Given the description of an element on the screen output the (x, y) to click on. 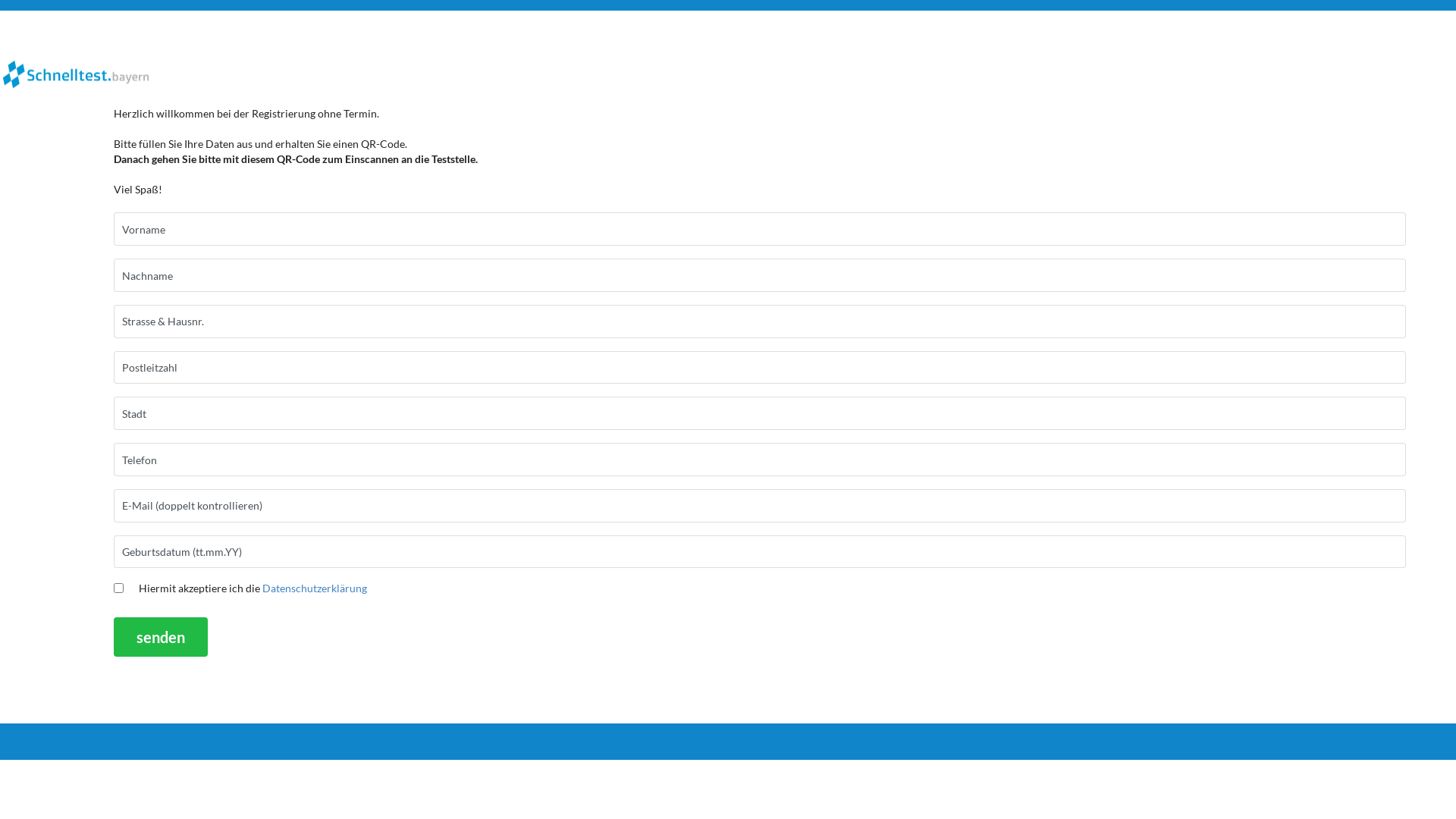
senden Element type: text (160, 636)
